Given the description of an element on the screen output the (x, y) to click on. 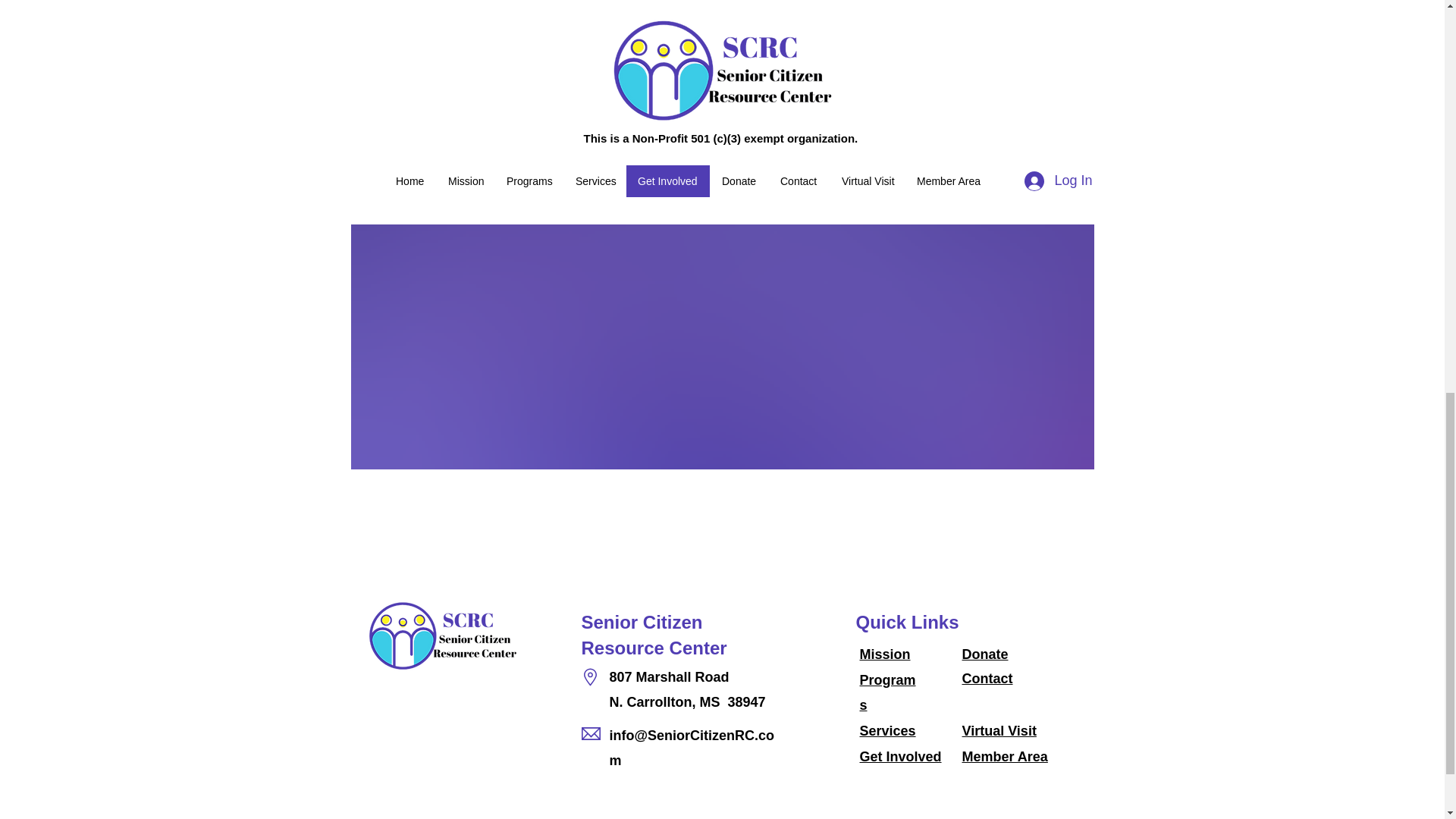
Services (887, 730)
Programs (887, 692)
Member Area (1003, 756)
Get Involved (901, 756)
Mission (885, 654)
